Given the description of an element on the screen output the (x, y) to click on. 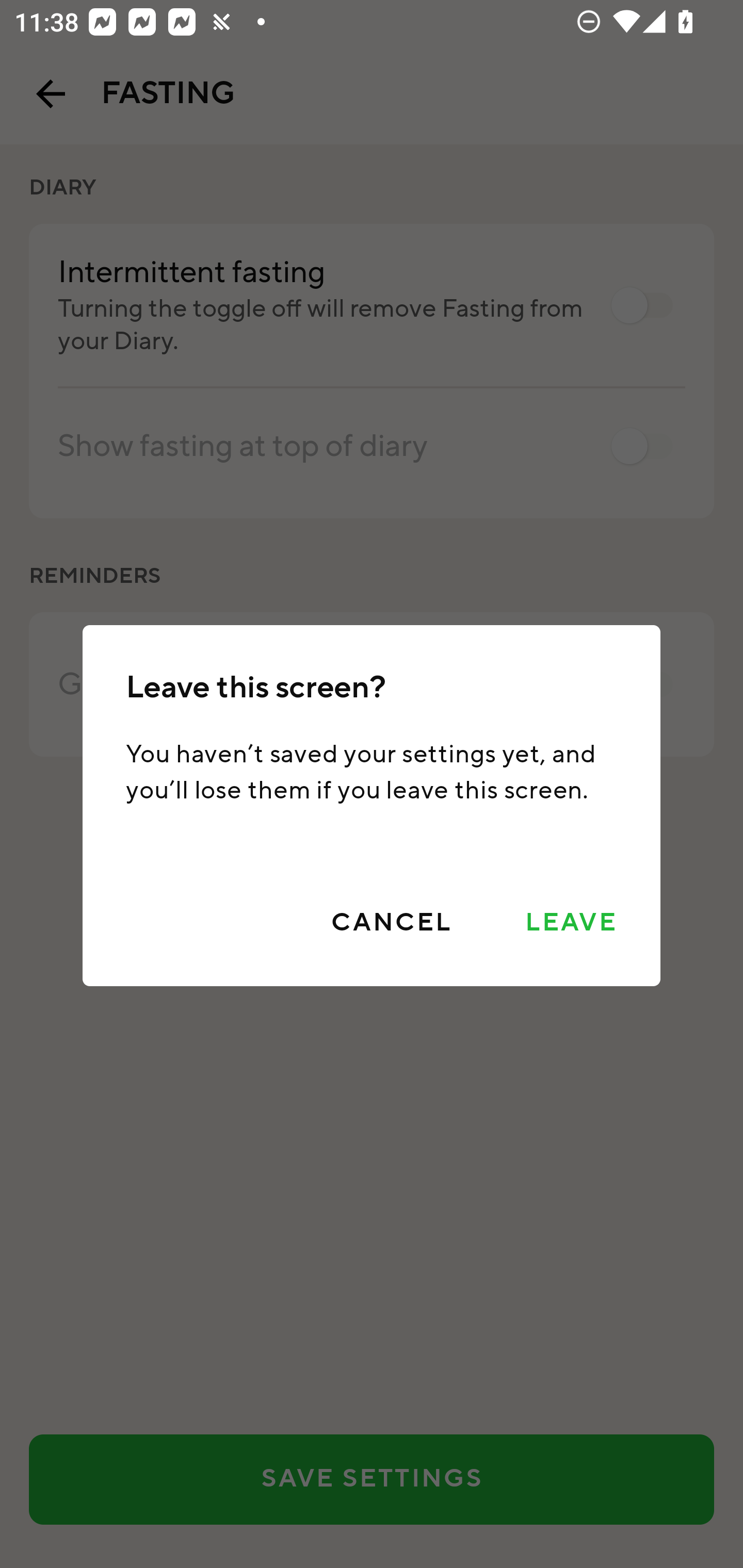
CANCEL (390, 922)
LEAVE (570, 922)
